Given the description of an element on the screen output the (x, y) to click on. 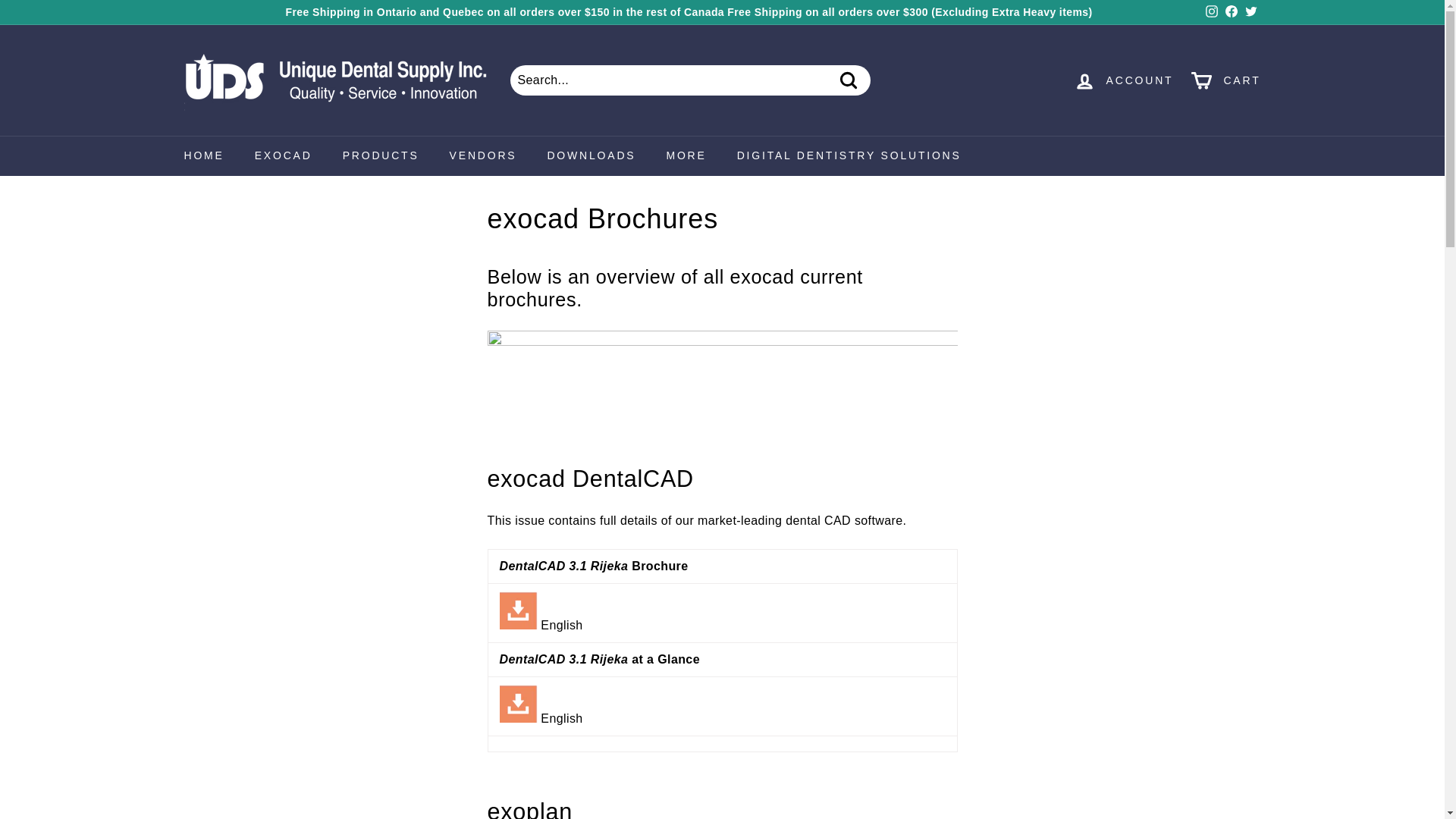
PRODUCTS (380, 155)
ACCOUNT (1123, 79)
EXOCAD (283, 155)
HOME (203, 155)
